Given the description of an element on the screen output the (x, y) to click on. 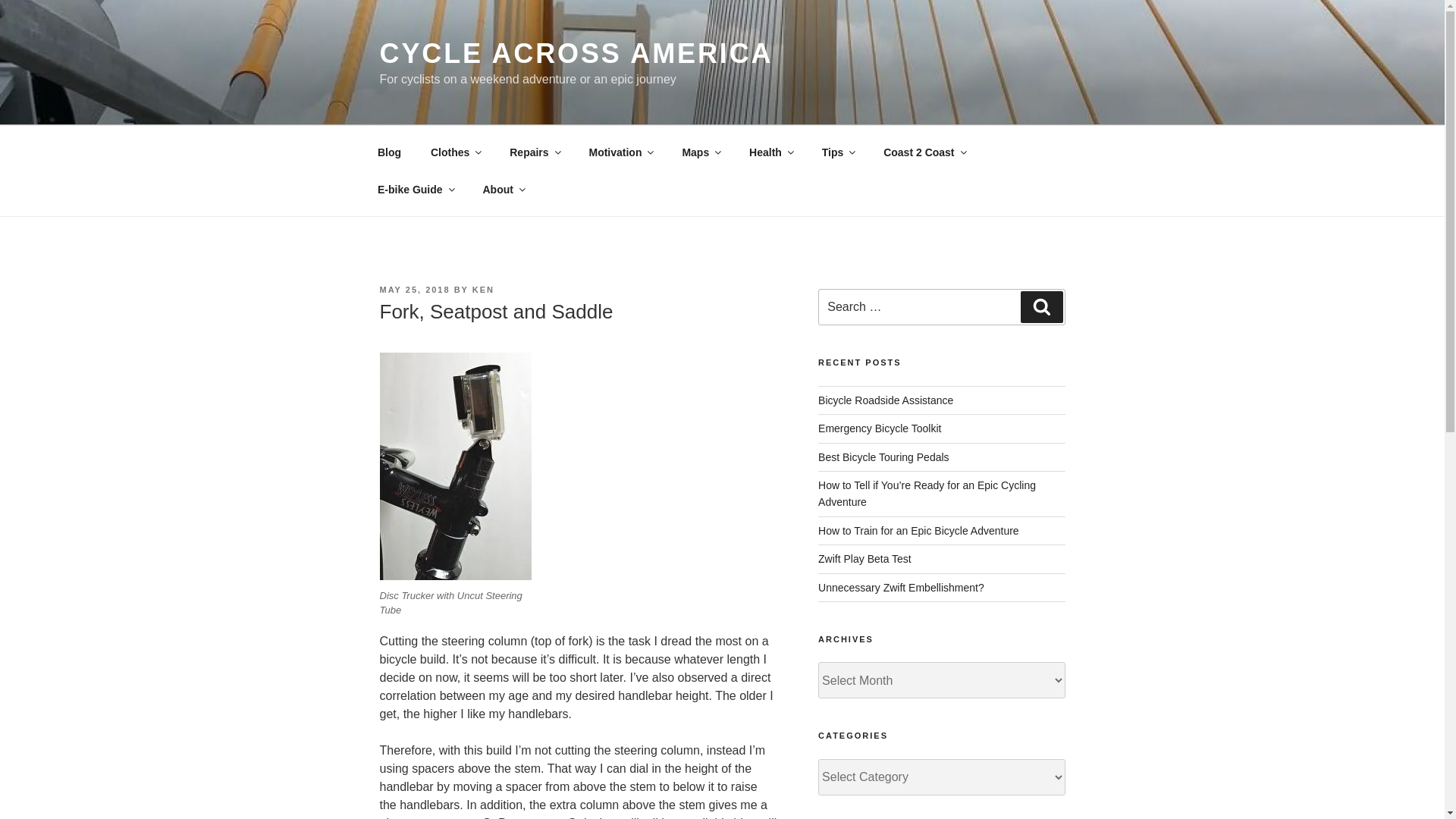
Clothes (454, 151)
Motivation (620, 151)
Blog (388, 151)
Repairs (534, 151)
Health (771, 151)
CYCLE ACROSS AMERICA (575, 52)
Maps (700, 151)
